Given the description of an element on the screen output the (x, y) to click on. 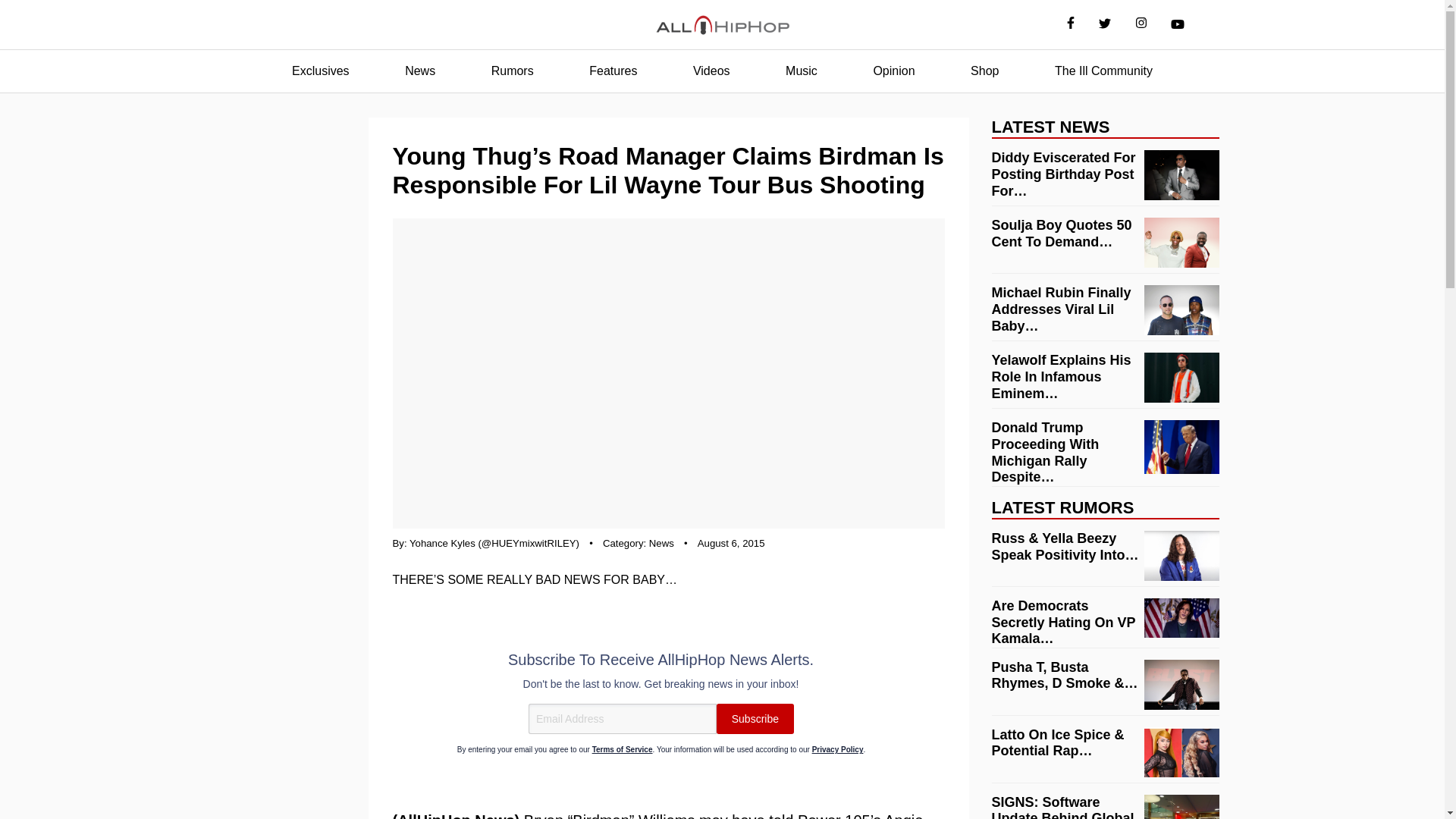
Music (801, 70)
Shop (984, 70)
News (419, 70)
Exclusives (320, 70)
Features (612, 70)
Rumors (512, 70)
Videos (711, 70)
News (661, 542)
August 6, 2015 (731, 542)
The Ill Community (1103, 70)
Opinion (893, 70)
AllHipHop (722, 25)
